Given the description of an element on the screen output the (x, y) to click on. 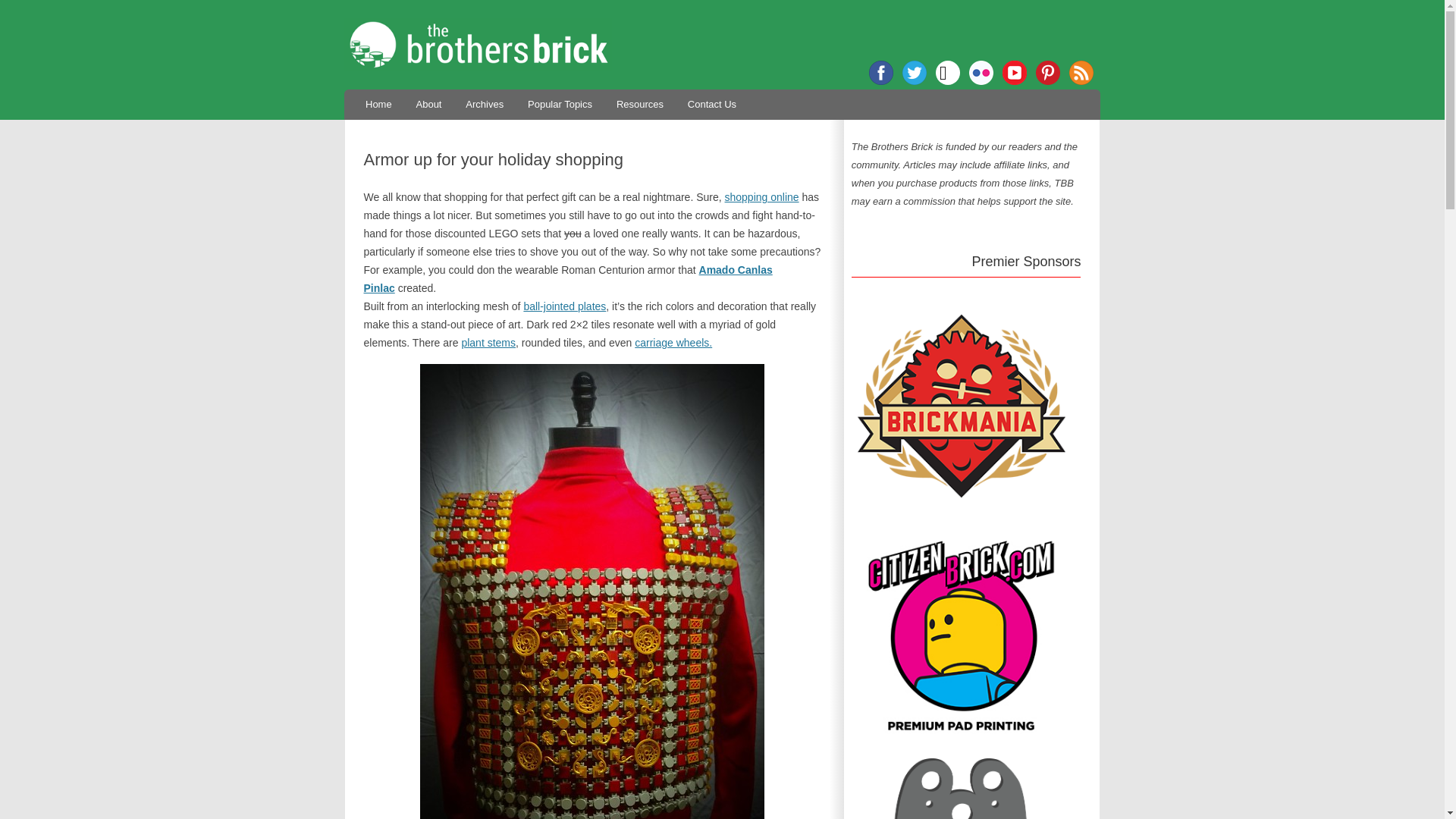
RSS (1080, 72)
Instagram (947, 72)
Pinterest (1047, 72)
Skip to content (757, 94)
Flickr (980, 72)
Facebook (881, 72)
Archives (484, 103)
Home (378, 103)
YouTube (1014, 72)
RSS (1080, 72)
